Given the description of an element on the screen output the (x, y) to click on. 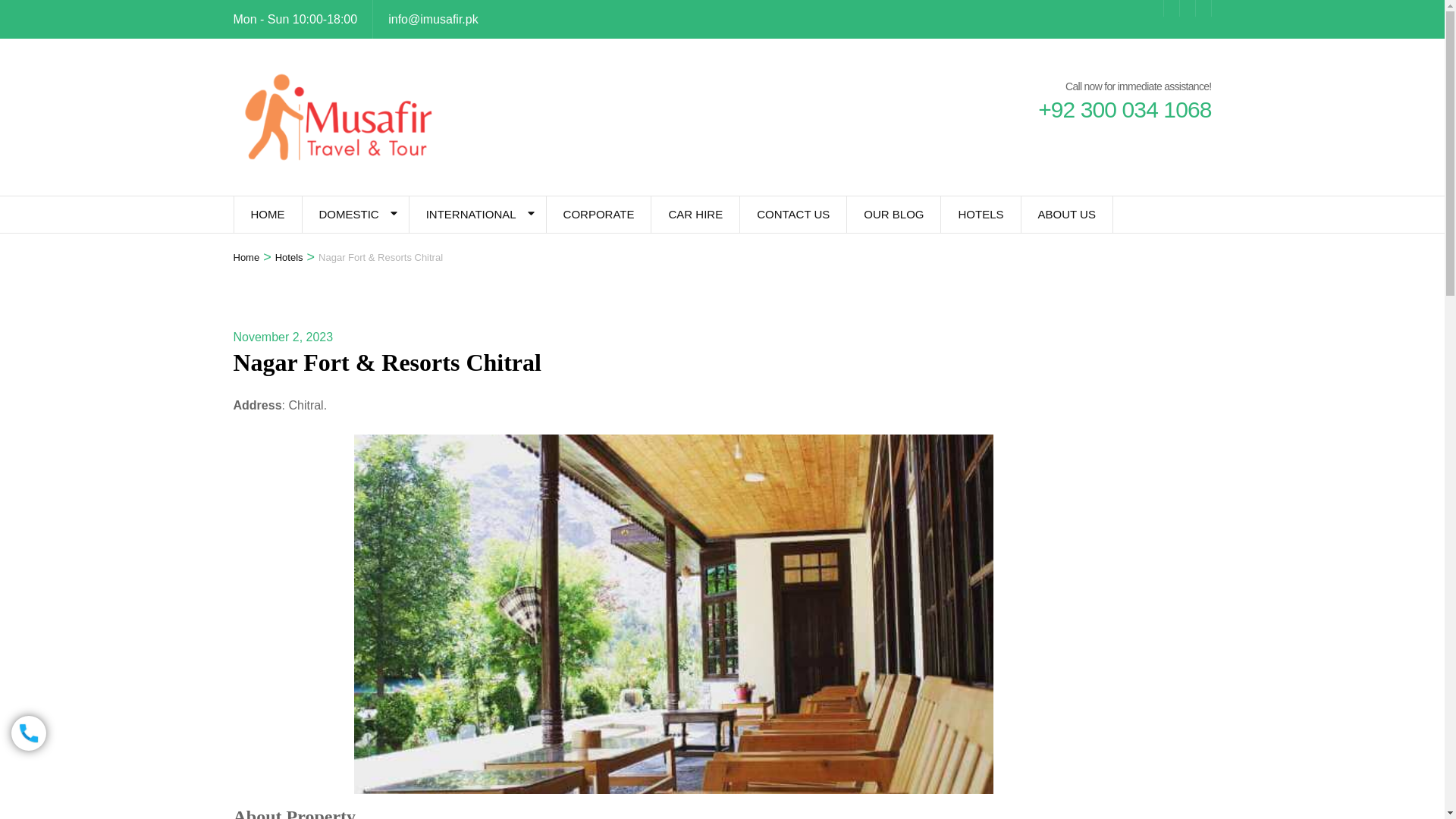
ABOUT US (1066, 214)
CORPORATE (598, 214)
INTERNATIONAL (470, 214)
OUR BLOG (893, 214)
CONTACT US (792, 214)
HOME (266, 214)
CAR HIRE (694, 214)
HOTELS (980, 214)
DOMESTIC (347, 214)
